Given the description of an element on the screen output the (x, y) to click on. 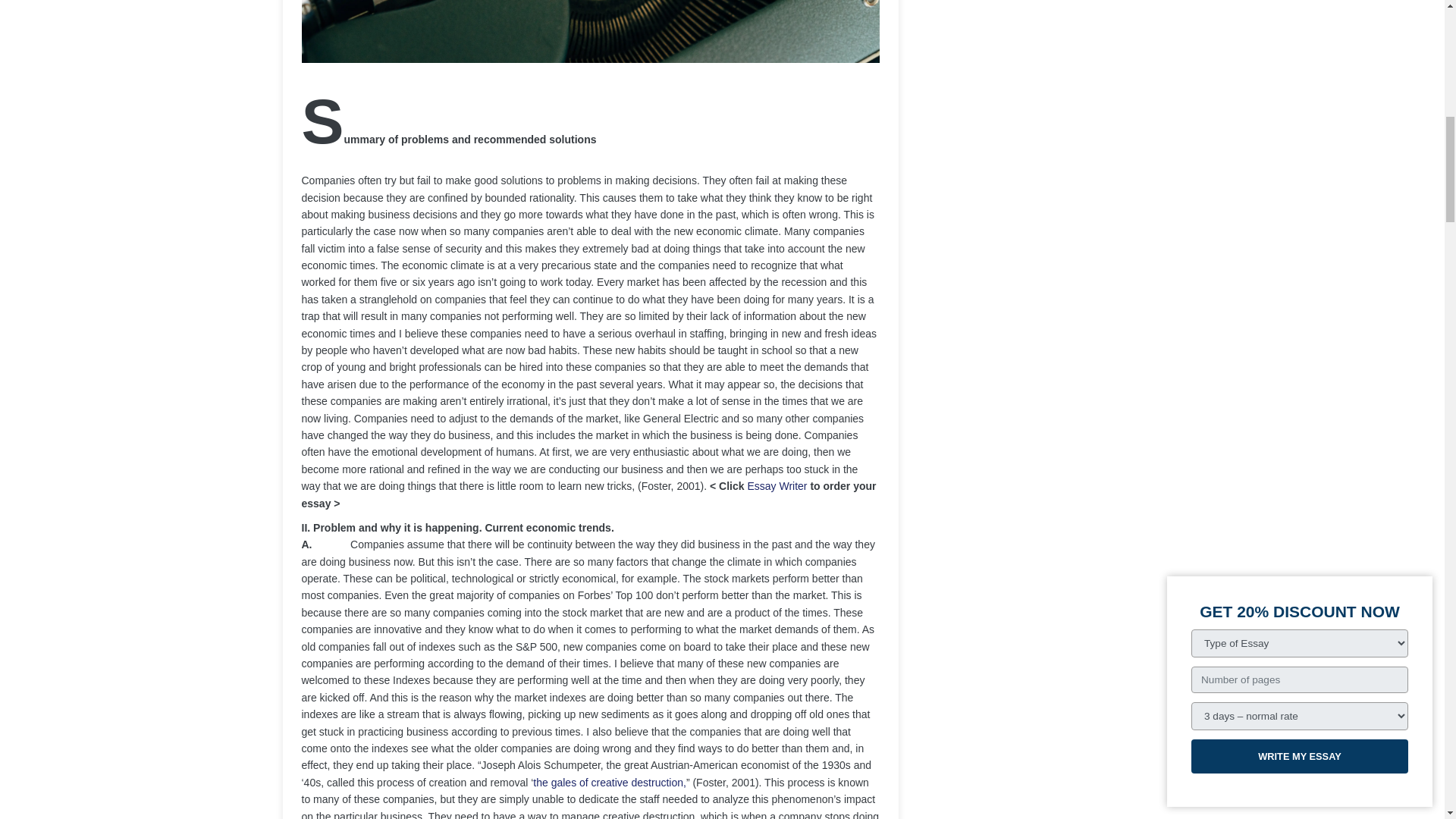
S (322, 121)
the gales of creative destruction, (608, 782)
Essay Writer (776, 485)
